Given the description of an element on the screen output the (x, y) to click on. 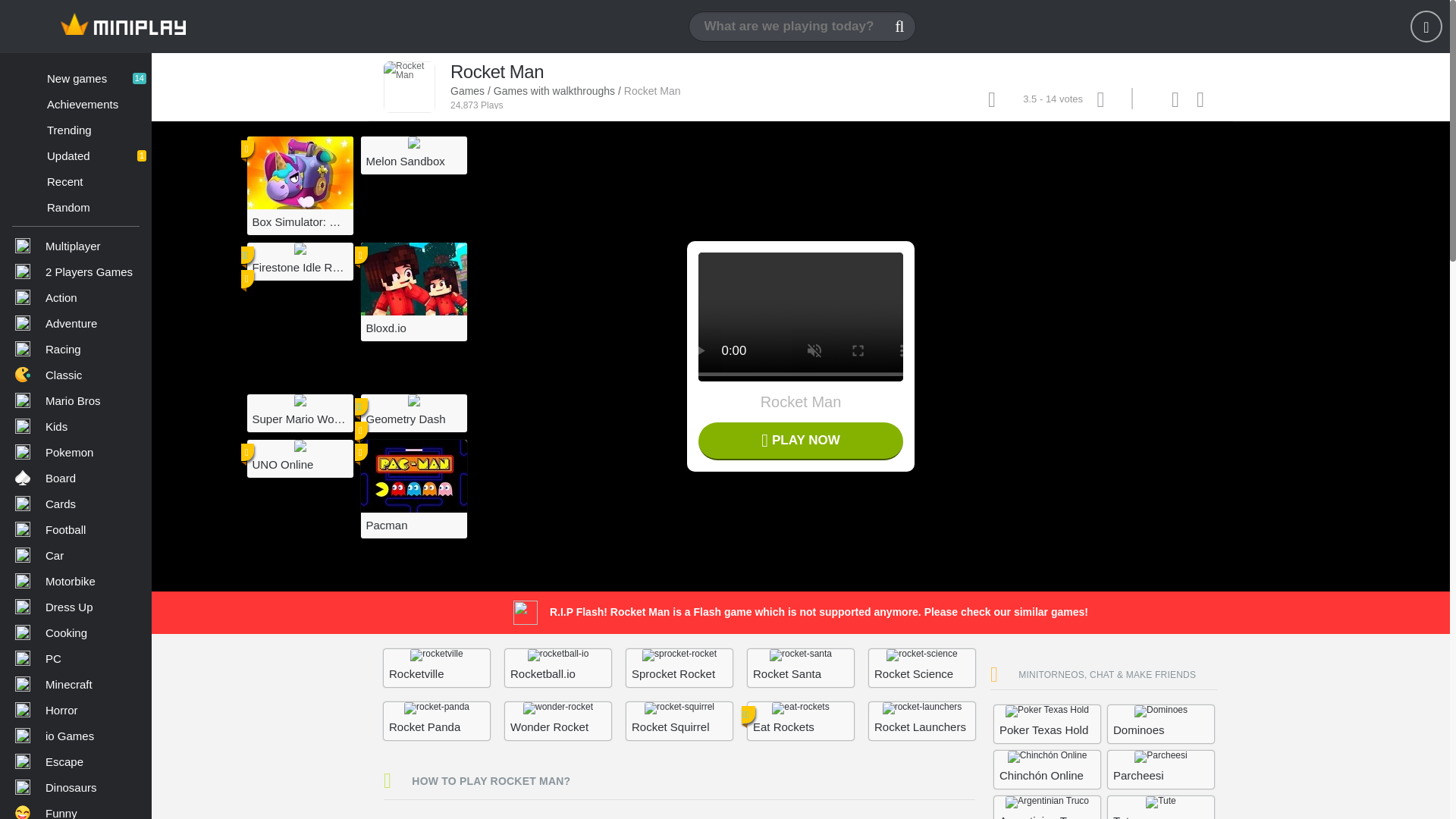
Escape (75, 760)
Multiplayer Games (75, 77)
2 Players Games (75, 245)
New games (75, 271)
Random (75, 77)
Adventure Games (75, 207)
Board (75, 322)
Dress Up (75, 477)
Trending (75, 606)
